Given the description of an element on the screen output the (x, y) to click on. 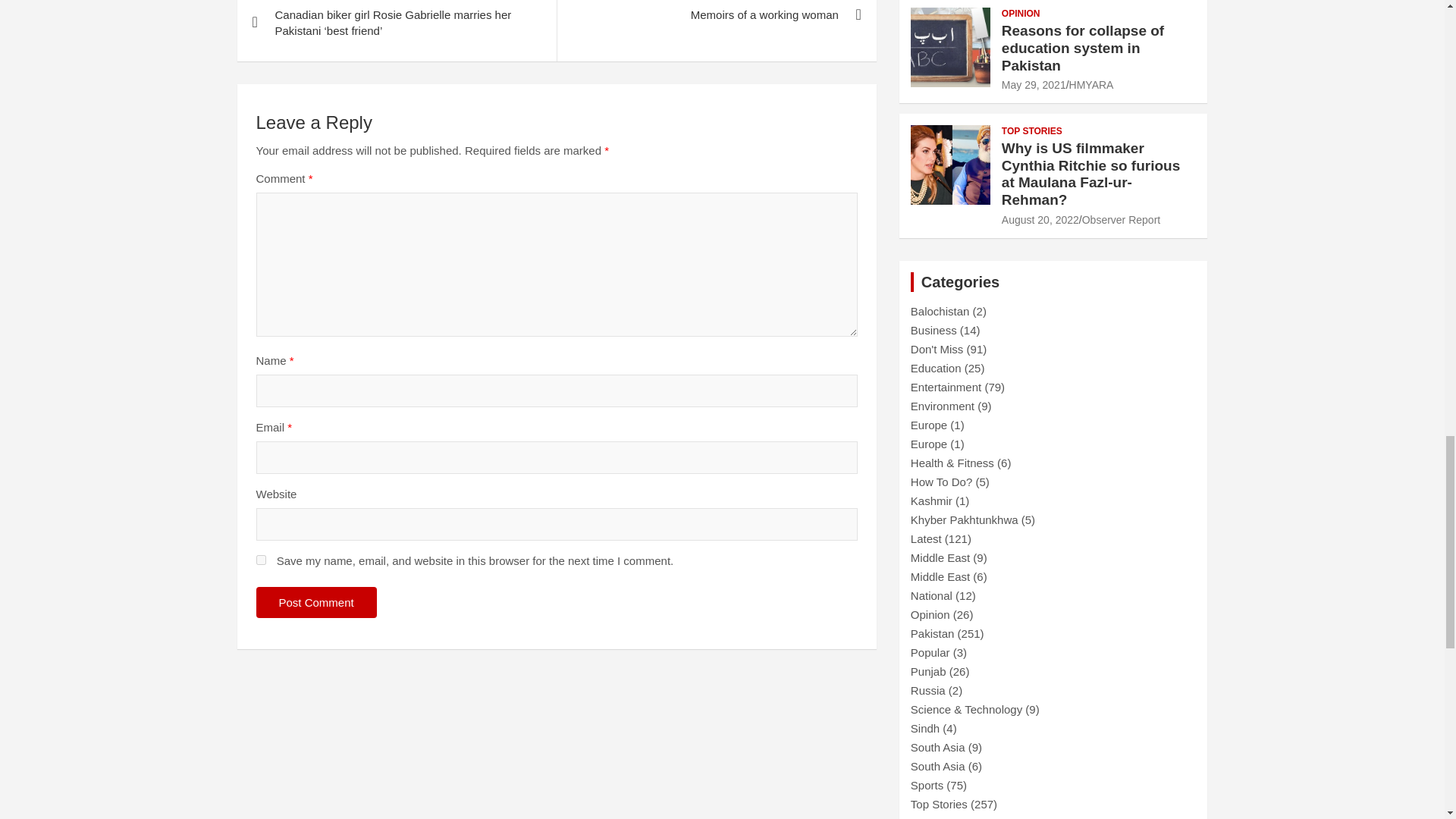
yes (261, 560)
Reasons for collapse of education system in Pakistan (1033, 84)
Post Comment (316, 602)
